Given the description of an element on the screen output the (x, y) to click on. 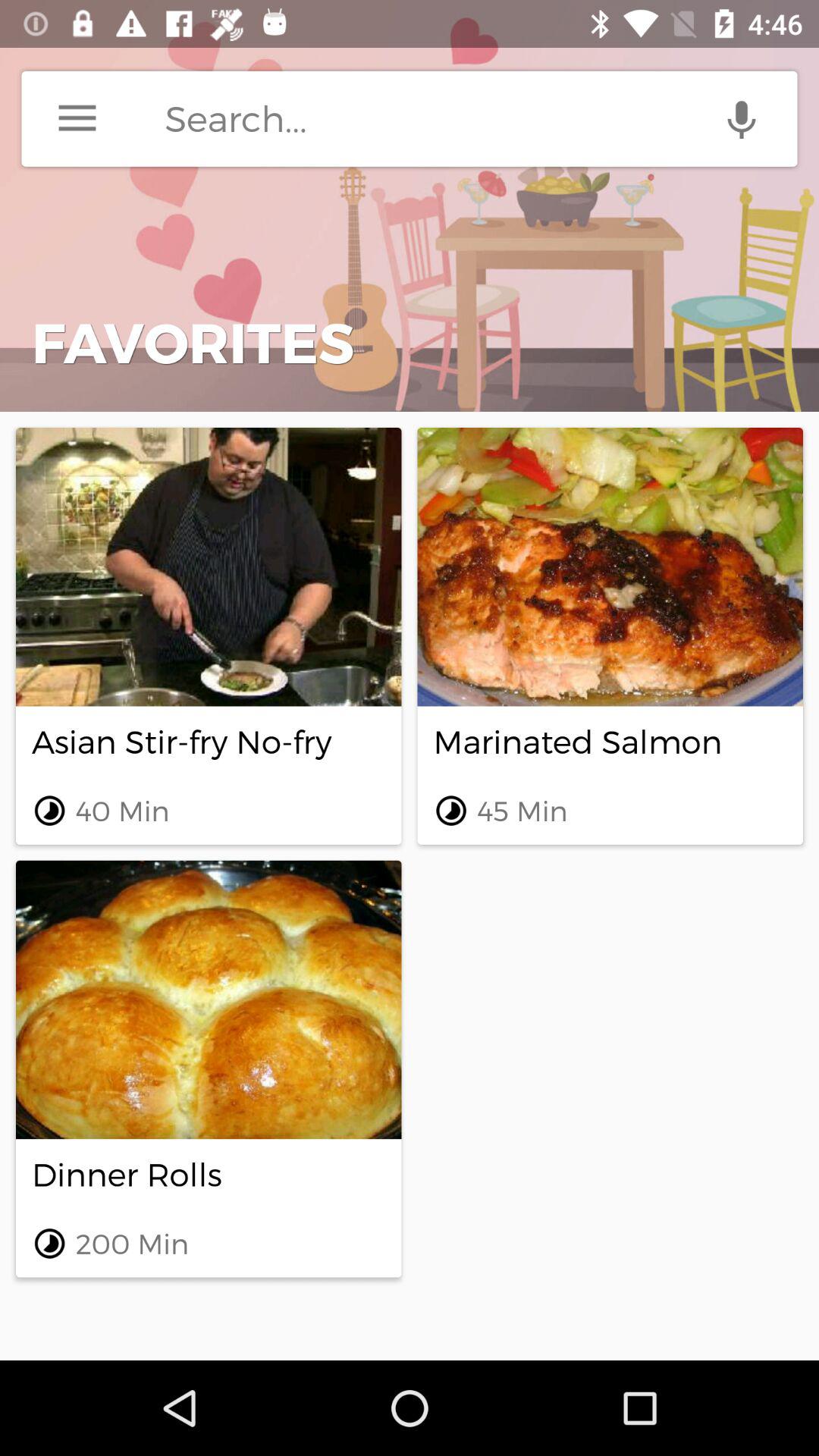
menu options (77, 118)
